Given the description of an element on the screen output the (x, y) to click on. 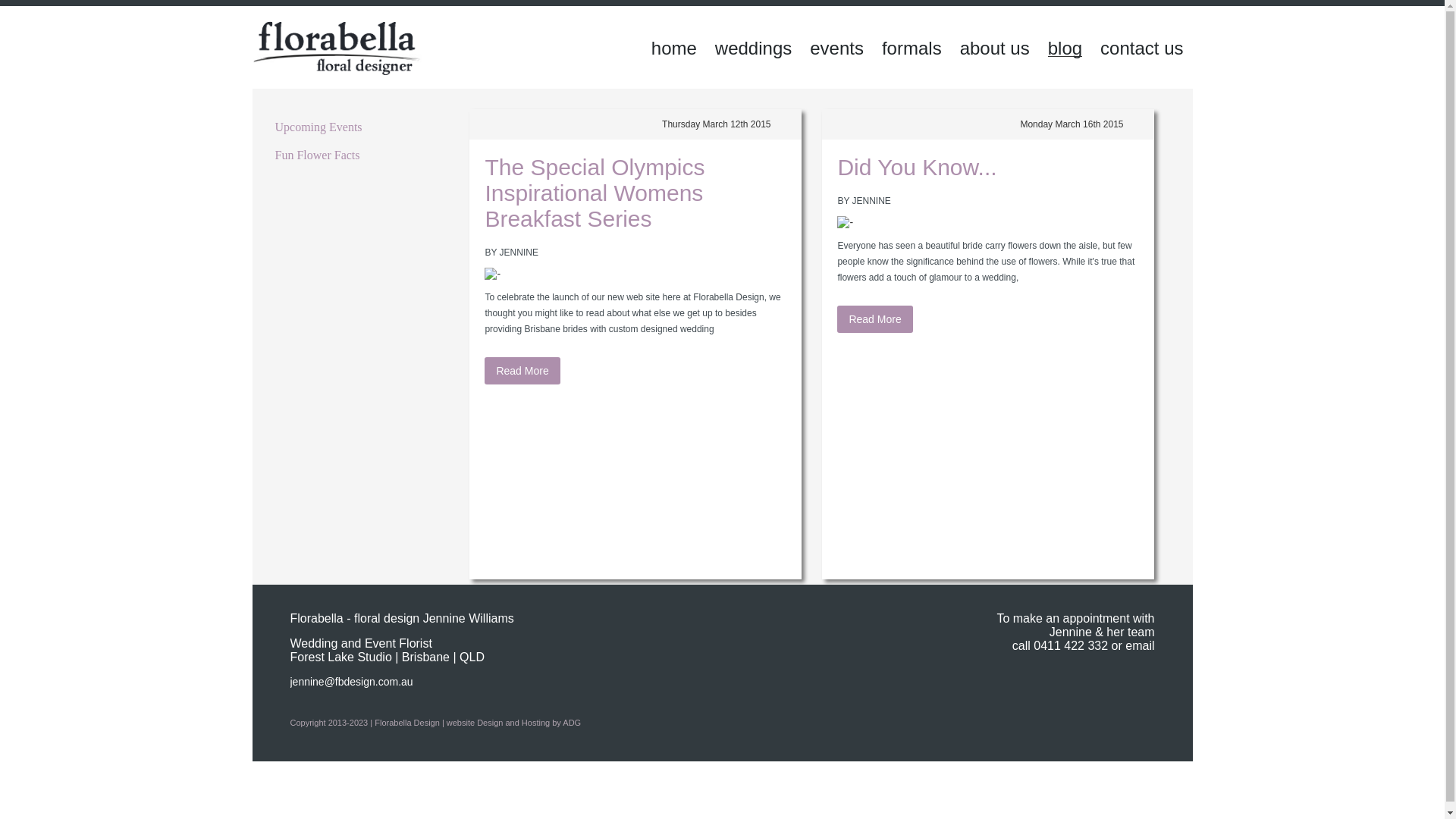
Fun Flower Facts Element type: text (316, 154)
jennine@fbdesign.com.au Element type: text (350, 681)
Read More Element type: text (521, 370)
about us Element type: text (994, 48)
events Element type: text (836, 48)
blog Element type: text (1065, 48)
contact us Element type: text (1141, 48)
ADG Element type: text (571, 722)
Did You Know... Element type: text (916, 166)
0411 422 332 Element type: text (1070, 645)
The Special Olympics Inspirational Womens Breakfast Series Element type: text (594, 192)
email Element type: text (1139, 645)
Read More Element type: text (874, 318)
home Element type: text (673, 48)
weddings Element type: text (753, 48)
Upcoming Events Element type: text (317, 126)
formals Element type: text (911, 48)
